Given the description of an element on the screen output the (x, y) to click on. 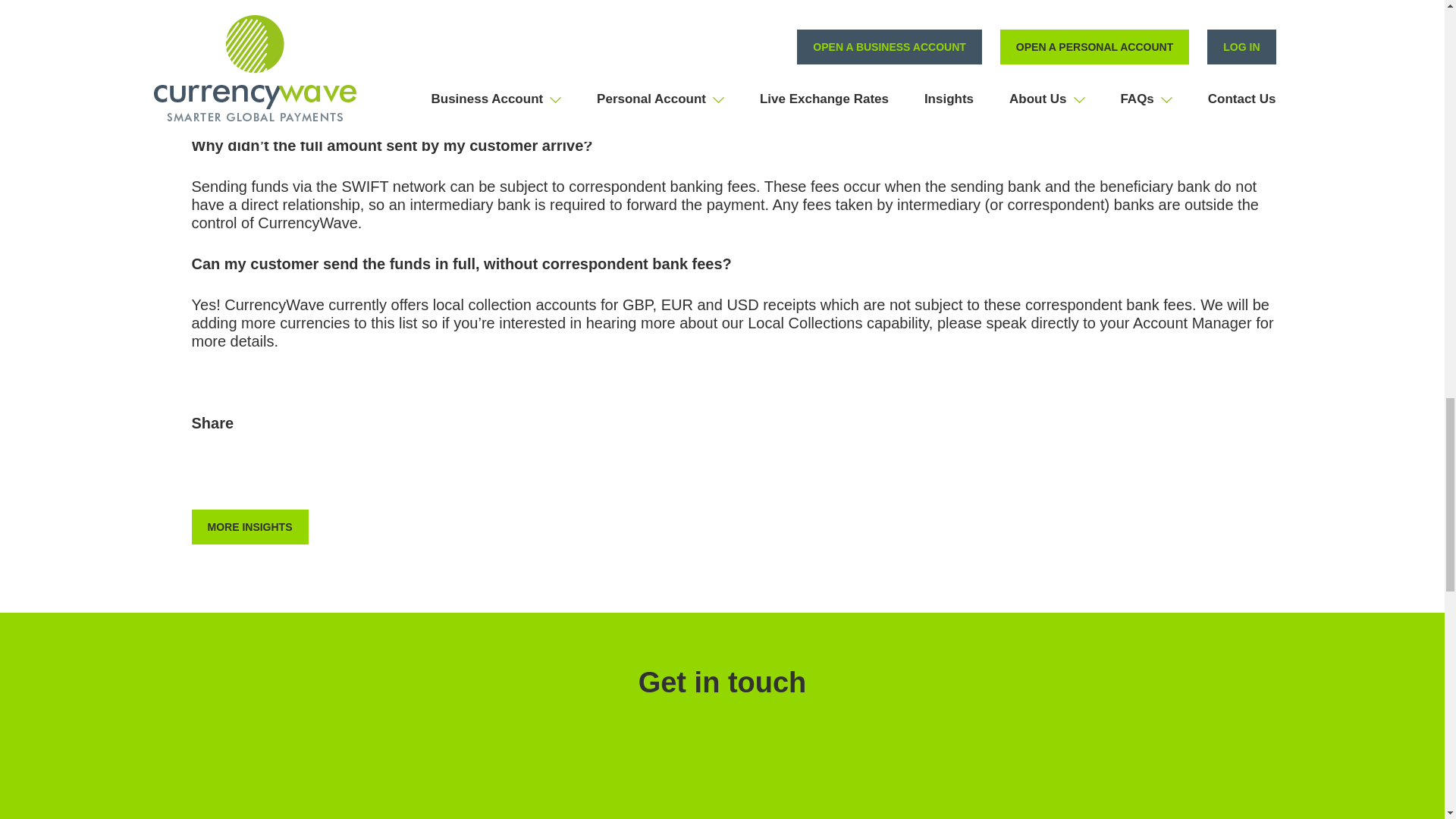
Facebook (204, 472)
LinkedIn (289, 472)
Twitter (246, 472)
